Given the description of an element on the screen output the (x, y) to click on. 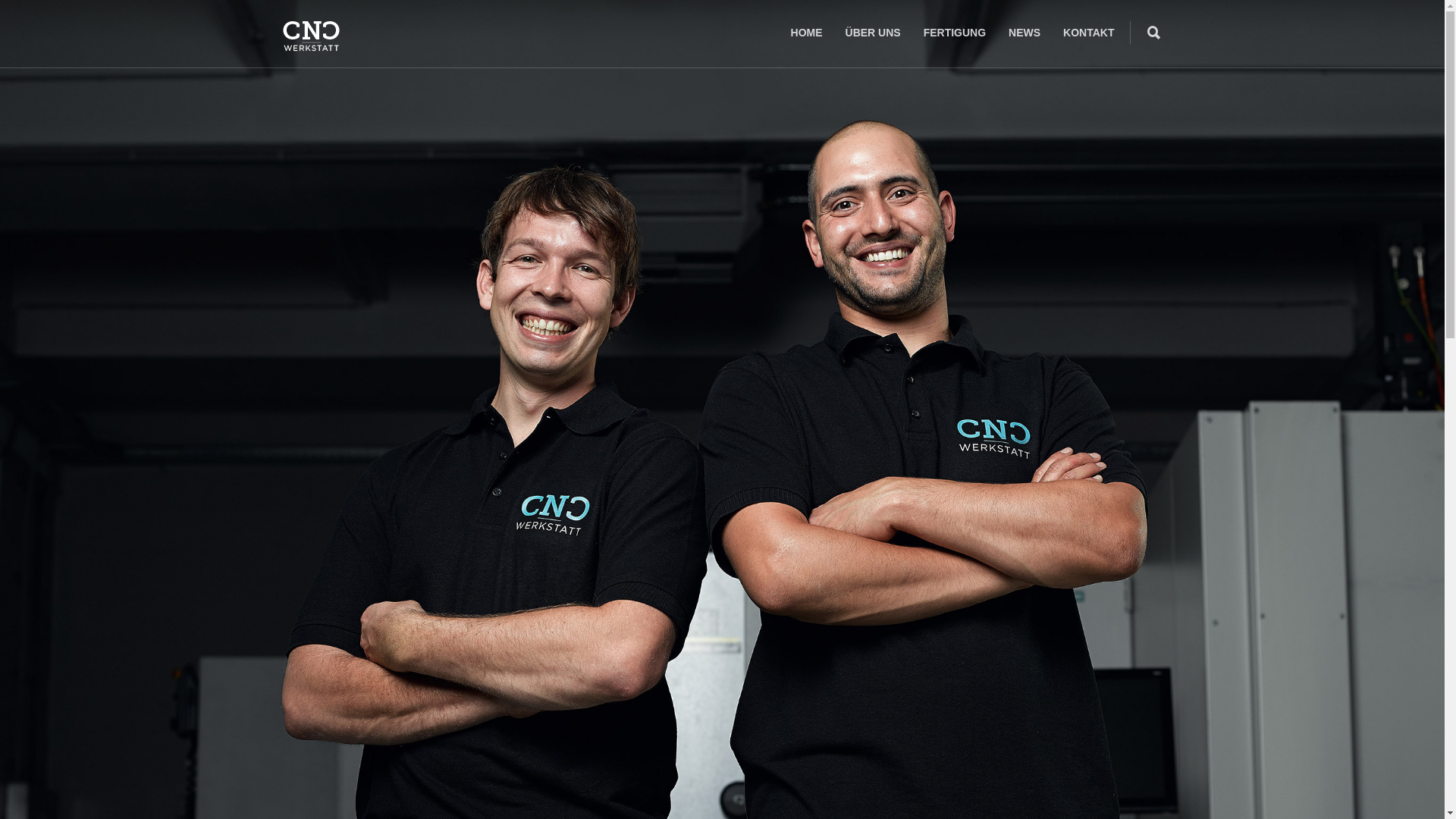
FERTIGUNG Element type: text (954, 32)
KONTAKT Element type: text (1088, 32)
NEWS Element type: text (1024, 32)
HOME Element type: text (806, 32)
